Given the description of an element on the screen output the (x, y) to click on. 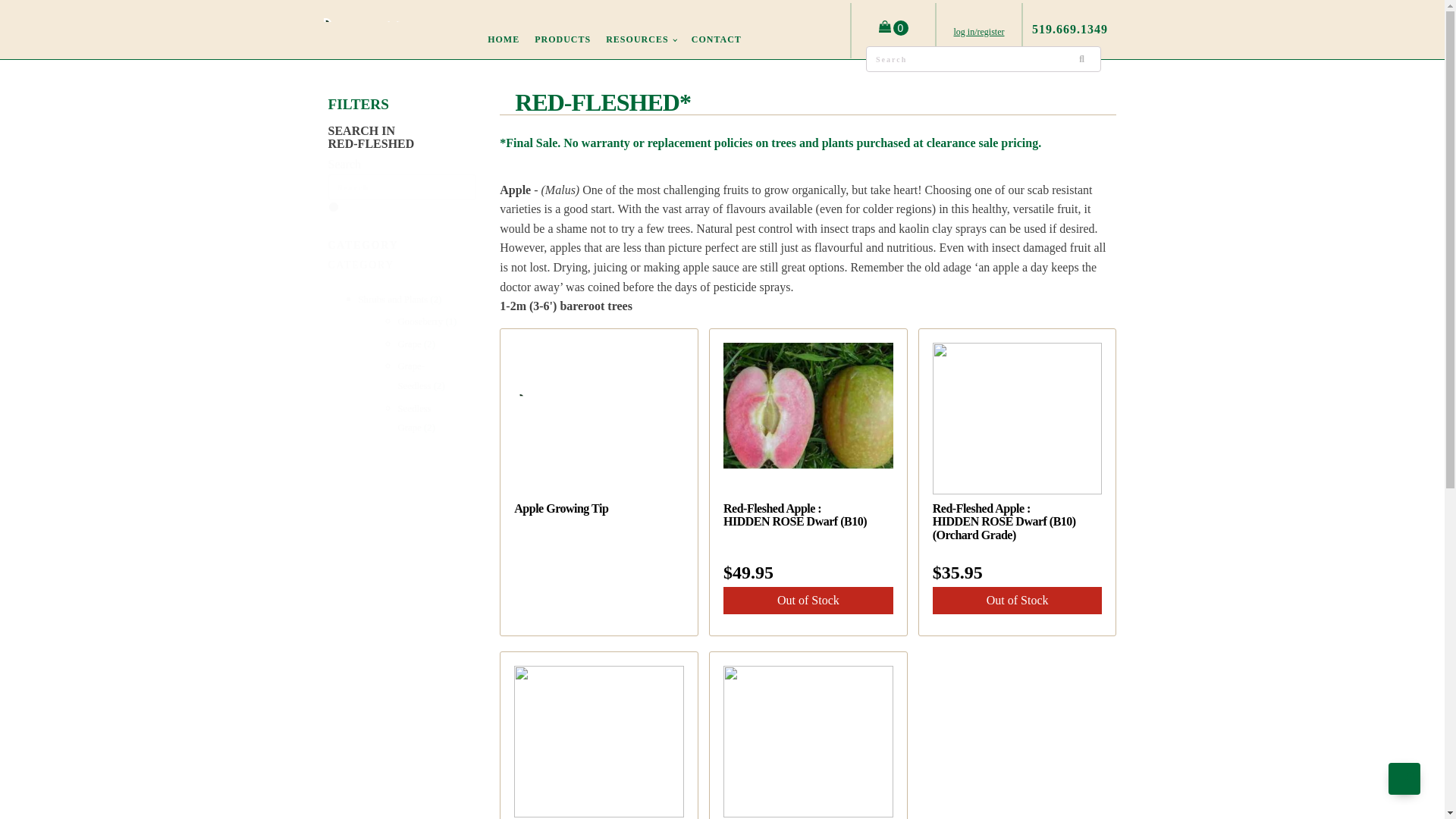
PRODUCTS (562, 39)
519.669.1349 (1070, 29)
Apple Growing Tip (598, 450)
CONTACT (716, 39)
HOME (503, 39)
RESOURCES (641, 39)
